Given the description of an element on the screen output the (x, y) to click on. 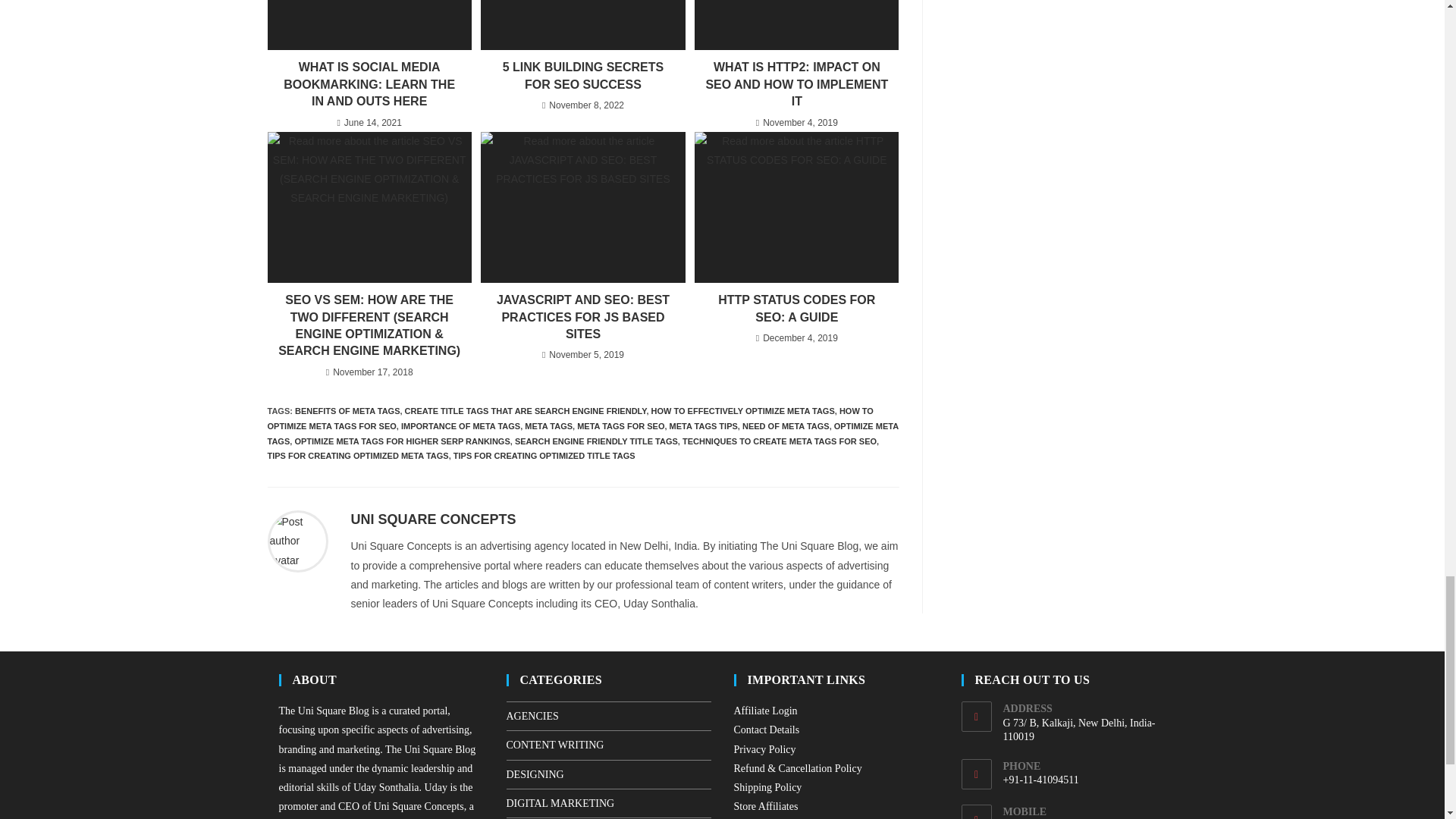
Visit author page (296, 540)
Visit author page (432, 519)
